Given the description of an element on the screen output the (x, y) to click on. 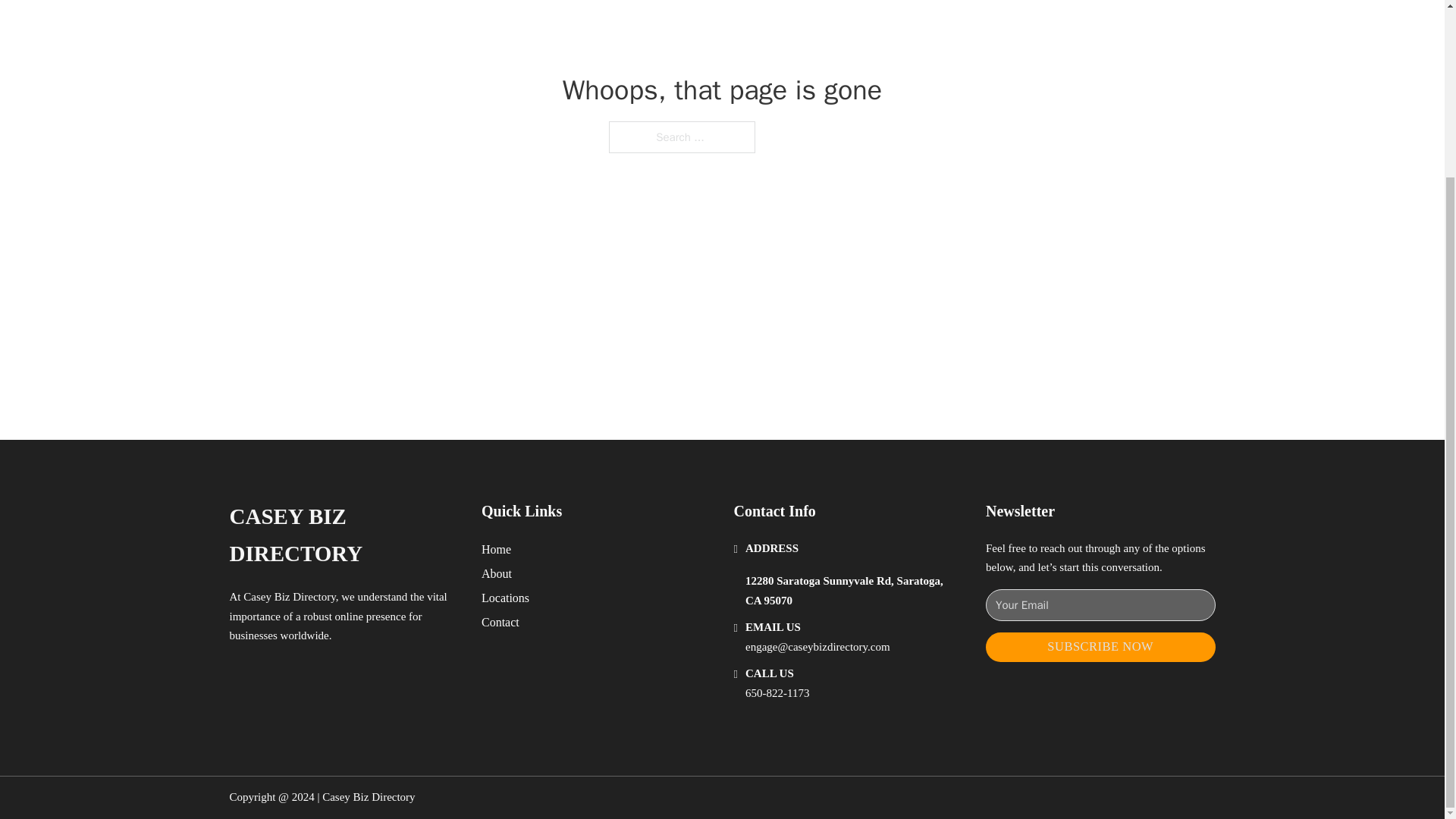
SUBSCRIBE NOW (1100, 646)
Home (496, 548)
About (496, 573)
650-822-1173 (777, 693)
CASEY BIZ DIRECTORY (343, 535)
Locations (505, 598)
Contact (500, 621)
